Given the description of an element on the screen output the (x, y) to click on. 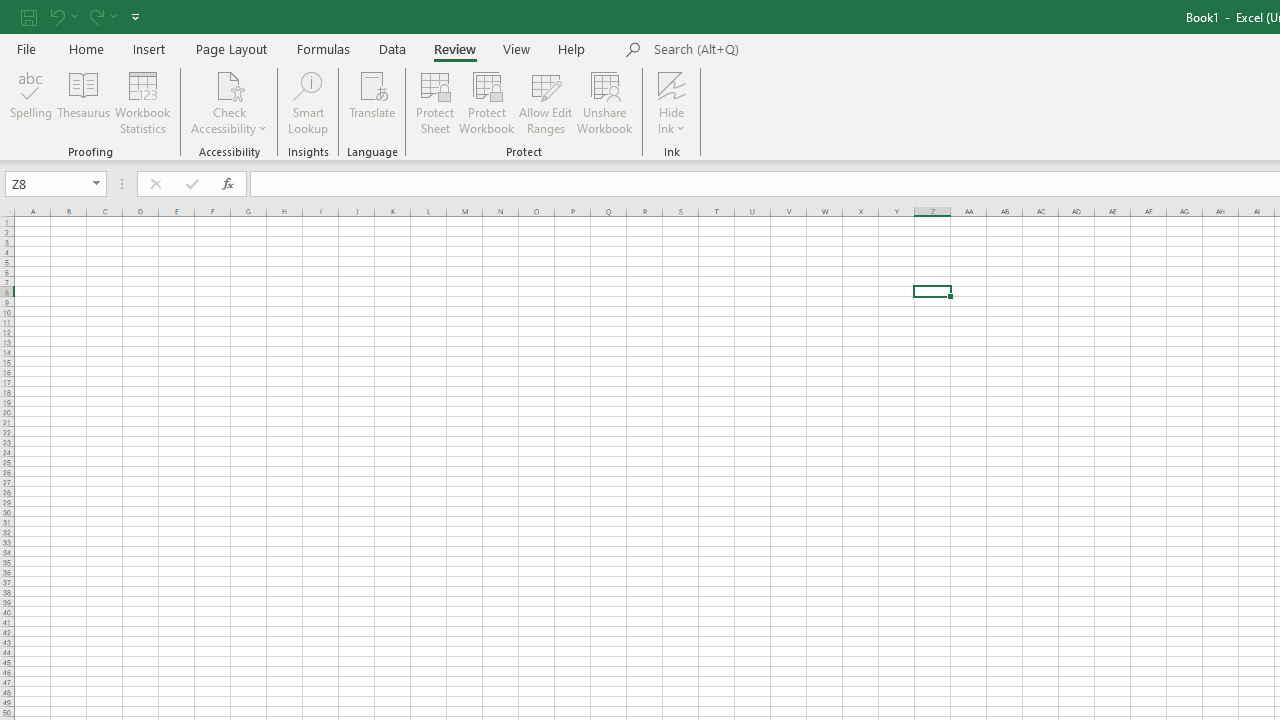
Protect Sheet... (434, 102)
Unshare Workbook (604, 102)
Protect Workbook... (486, 102)
Smart Lookup (308, 102)
